Given the description of an element on the screen output the (x, y) to click on. 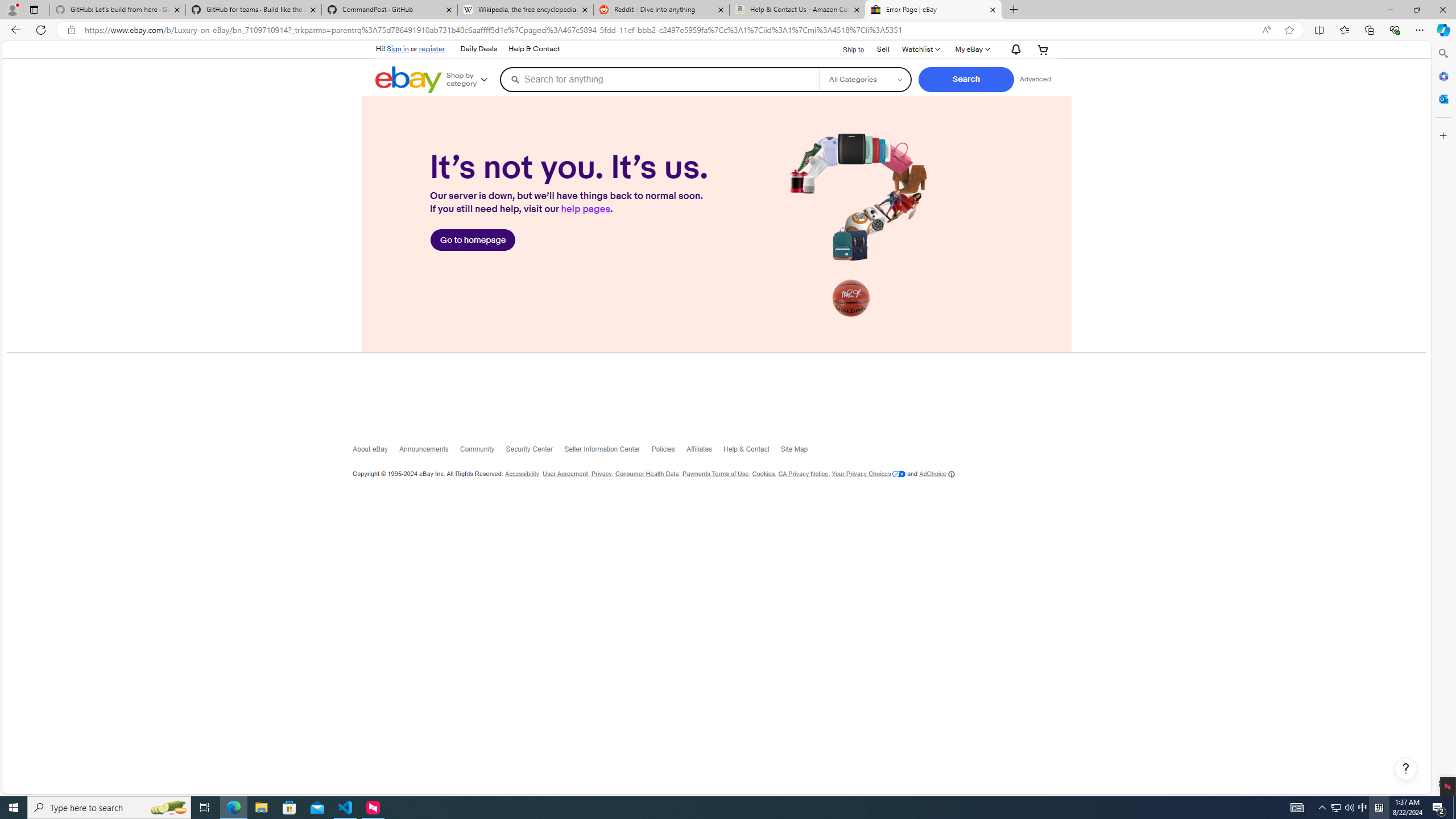
Affiliates (704, 451)
Security Center (534, 451)
Affiliates (704, 451)
Site Map (799, 451)
Shop by category (470, 79)
Select a category for search (864, 78)
Sell (883, 48)
WatchlistExpand Watch List (920, 49)
Ship to (845, 49)
CA Privacy Notice (802, 473)
